Given the description of an element on the screen output the (x, y) to click on. 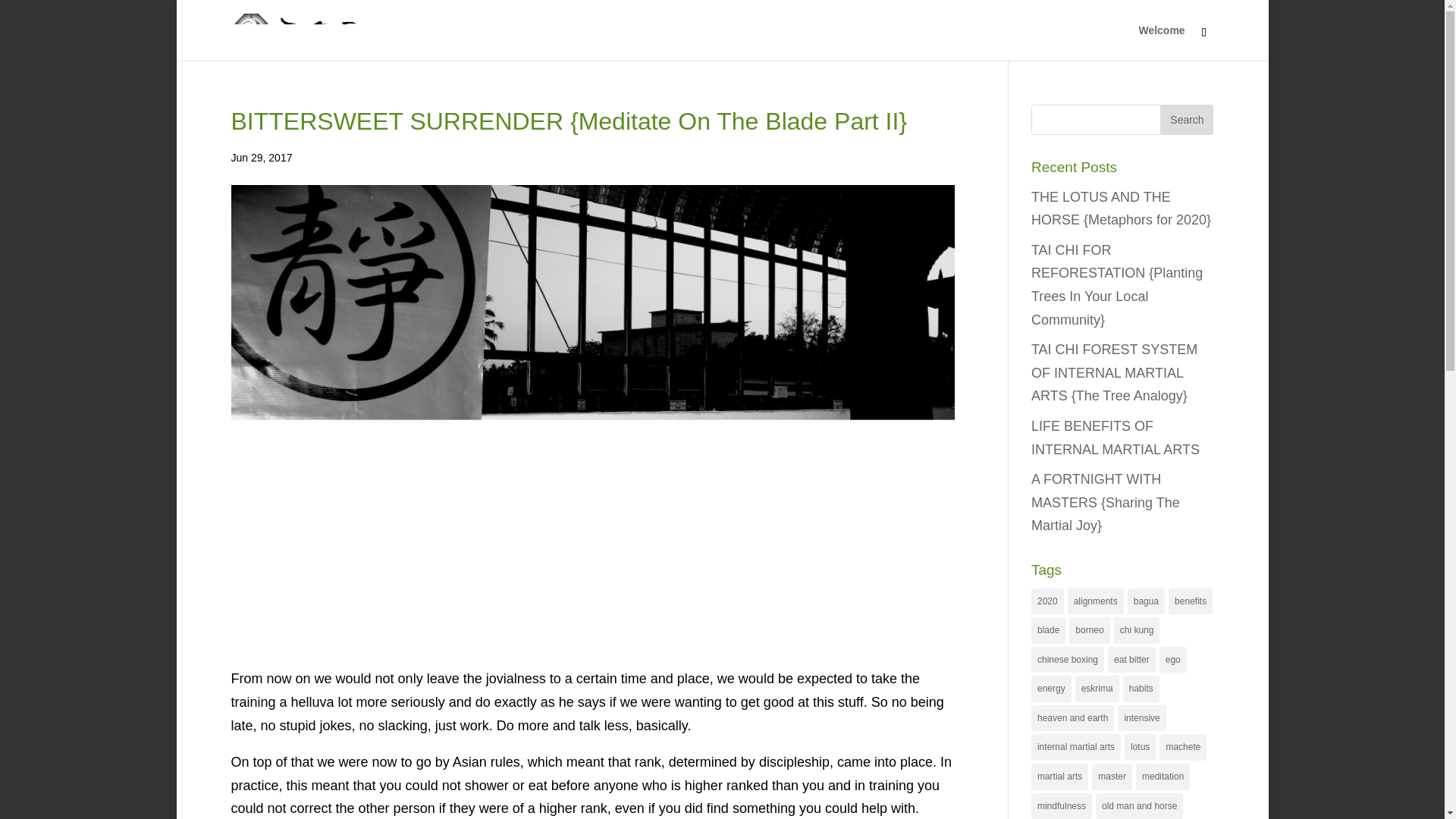
chi kung (1136, 630)
chinese boxing (1066, 660)
lotus (1140, 746)
internal martial arts (1075, 746)
LIFE BENEFITS OF INTERNAL MARTIAL ARTS (1114, 437)
2020 (1047, 601)
intensive (1142, 718)
ego (1172, 660)
Welcome (1161, 42)
Search (1186, 119)
Search (1186, 119)
energy (1050, 688)
old man and horse (1139, 806)
mindfulness (1061, 806)
master (1112, 776)
